Given the description of an element on the screen output the (x, y) to click on. 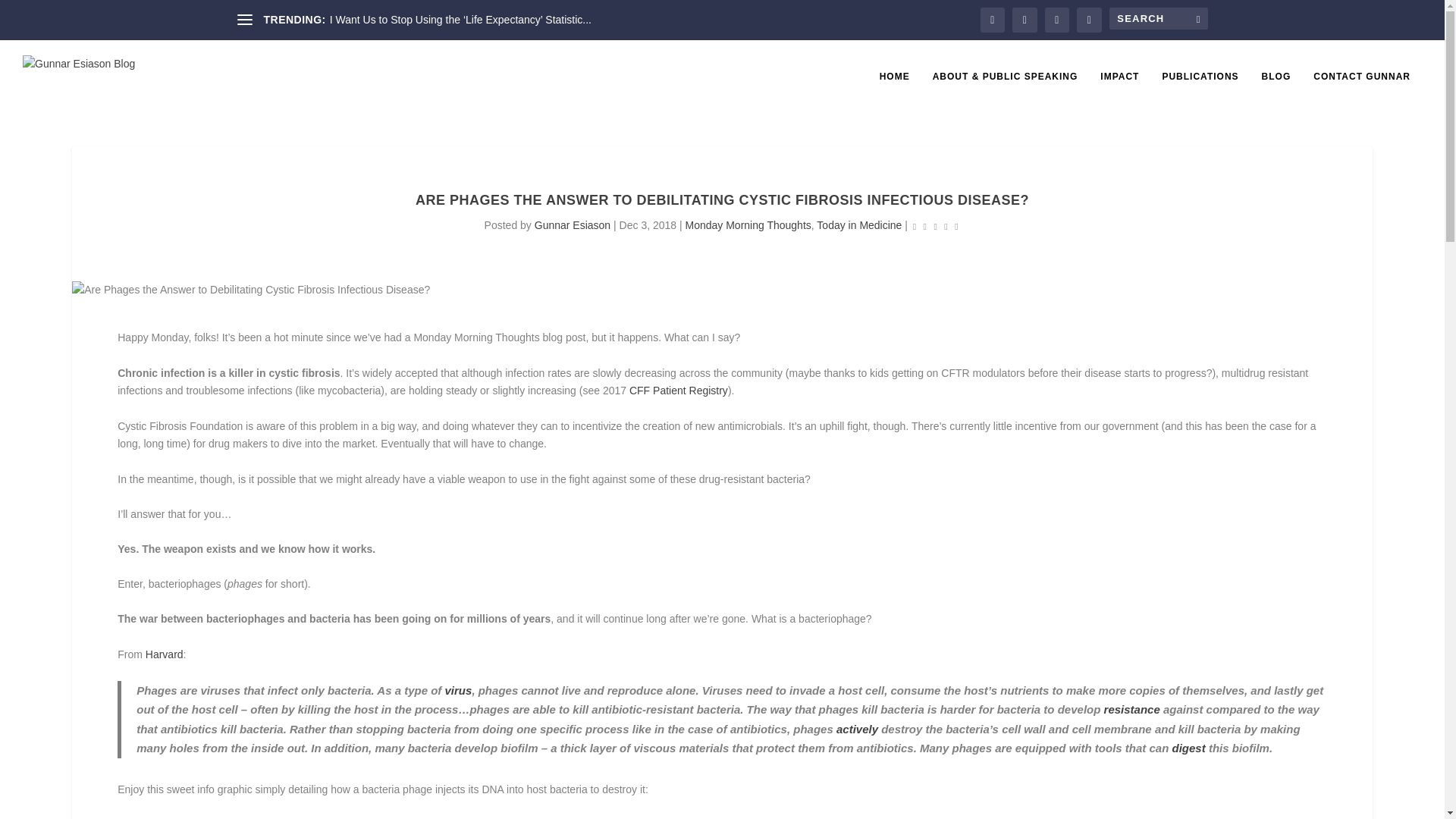
resistance (1131, 708)
Gunnar Esiason (572, 224)
CONTACT GUNNAR (1361, 92)
virus (458, 689)
Rating: 0.00 (935, 226)
Harvard (164, 654)
CFF Patient Registry (678, 390)
PUBLICATIONS (1200, 92)
digest (1188, 748)
actively (856, 728)
